Given the description of an element on the screen output the (x, y) to click on. 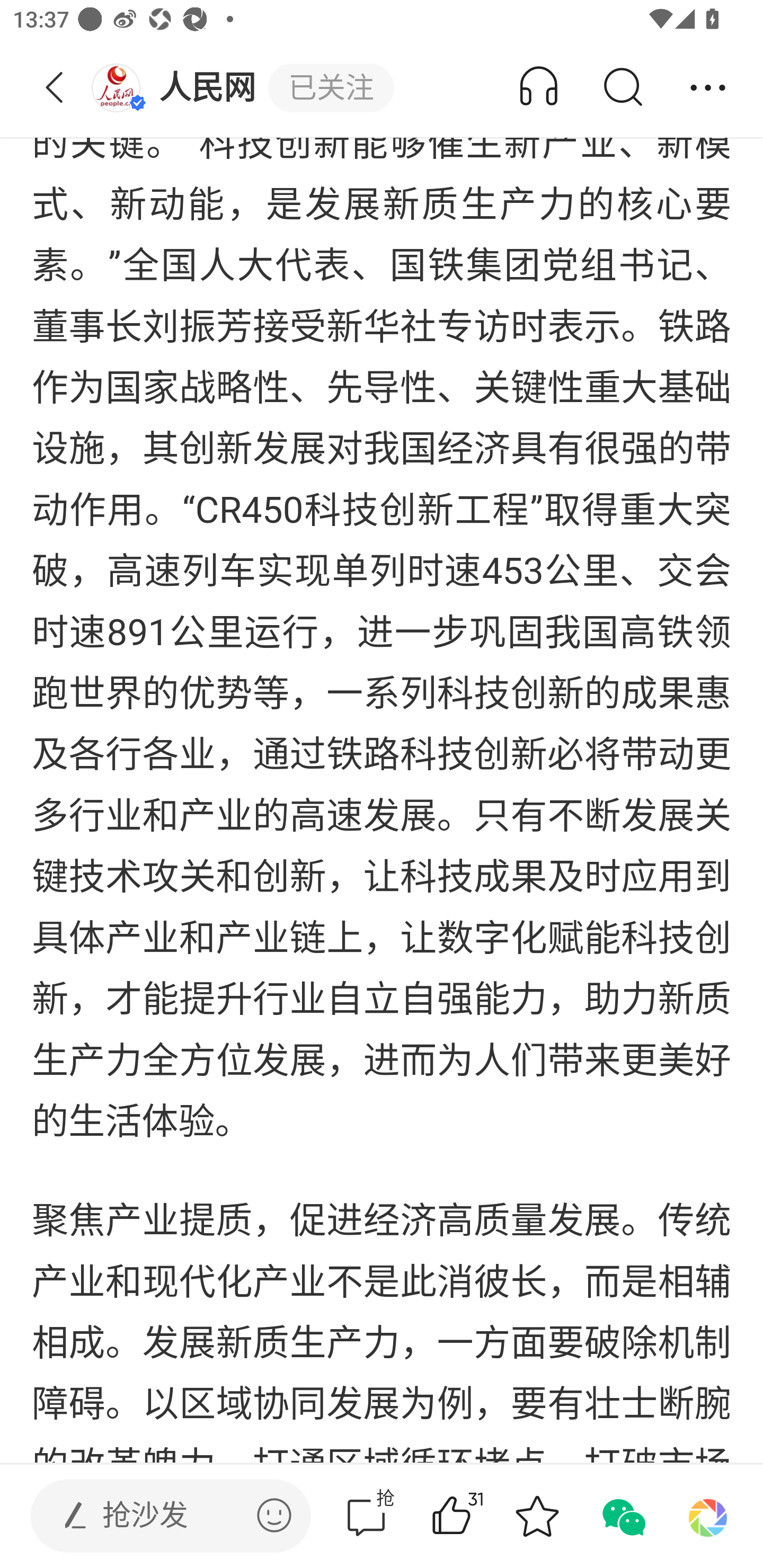
人民网 (179, 87)
搜索  (622, 87)
分享  (707, 87)
 返回 (54, 87)
已关注 (330, 88)
发表评论  抢沙发 发表评论  (155, 1516)
抢评论  抢 评论 (365, 1516)
31赞 (476, 1516)
收藏  (536, 1516)
分享到微信  (622, 1516)
分享到朋友圈 (707, 1516)
 (274, 1515)
